Given the description of an element on the screen output the (x, y) to click on. 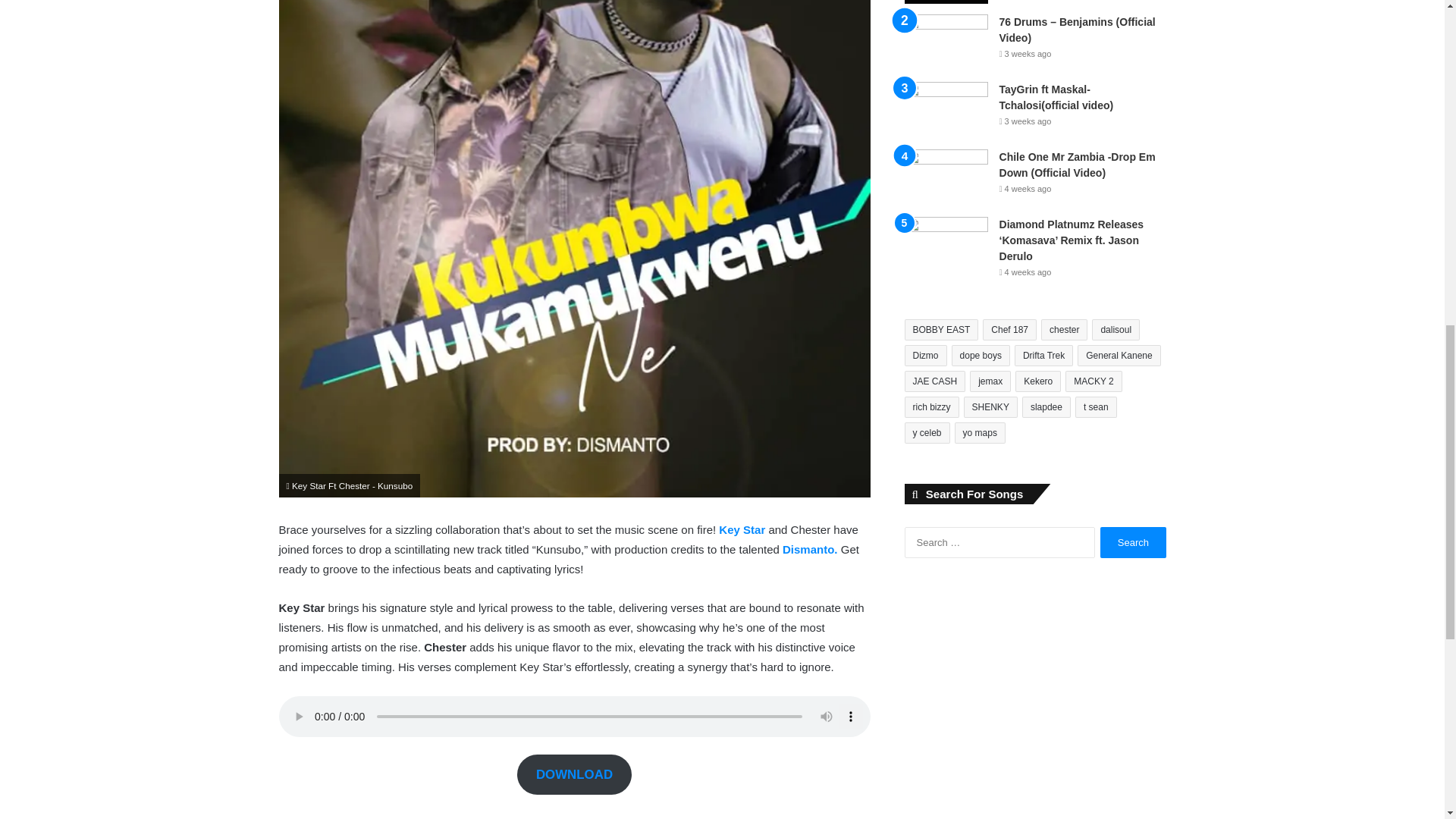
Key Star (743, 529)
Search (1133, 542)
DOWNLOAD (573, 774)
Dismanto. (812, 549)
Search (1133, 542)
